Given the description of an element on the screen output the (x, y) to click on. 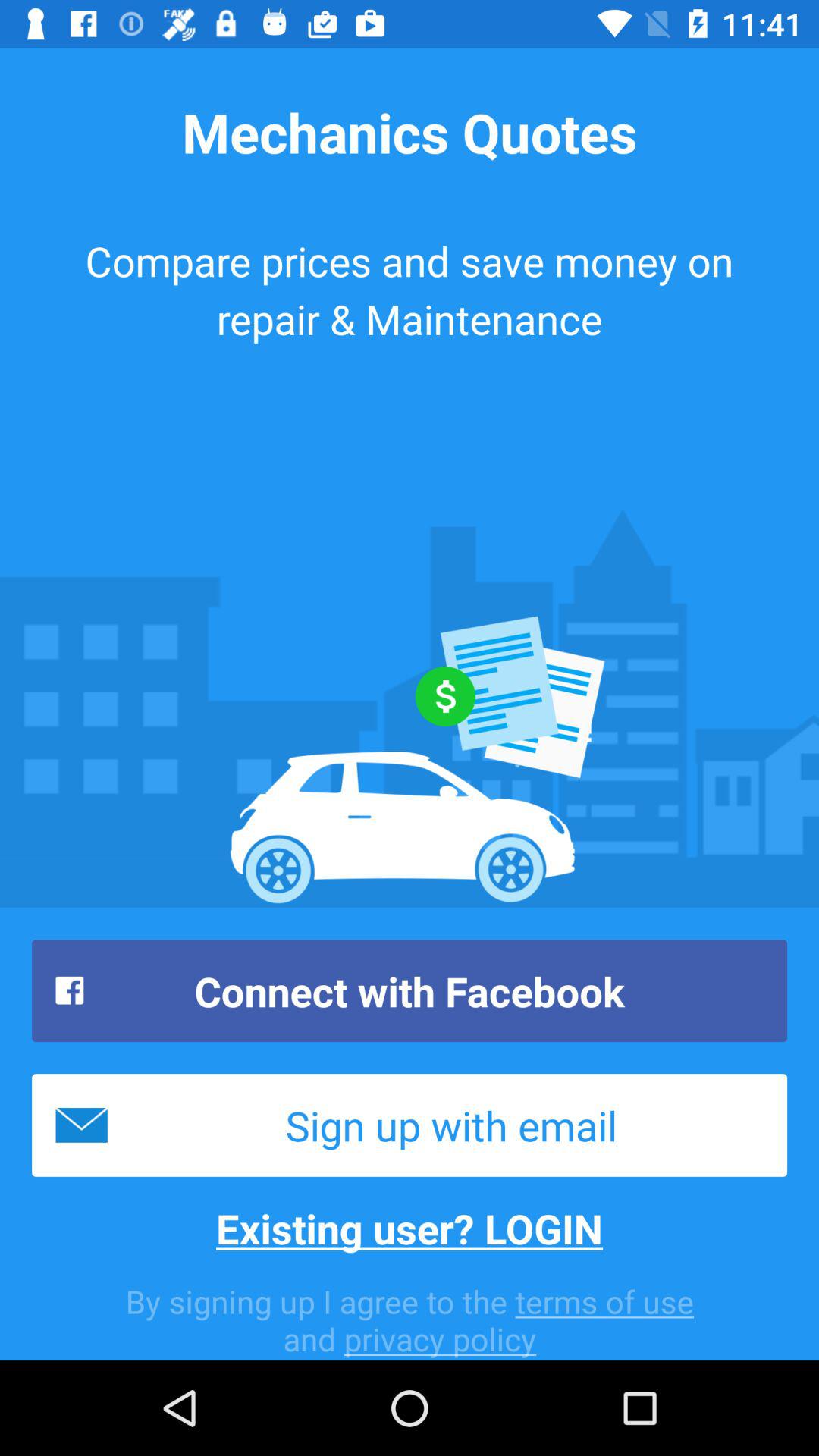
choose icon above the sign up with icon (409, 990)
